Given the description of an element on the screen output the (x, y) to click on. 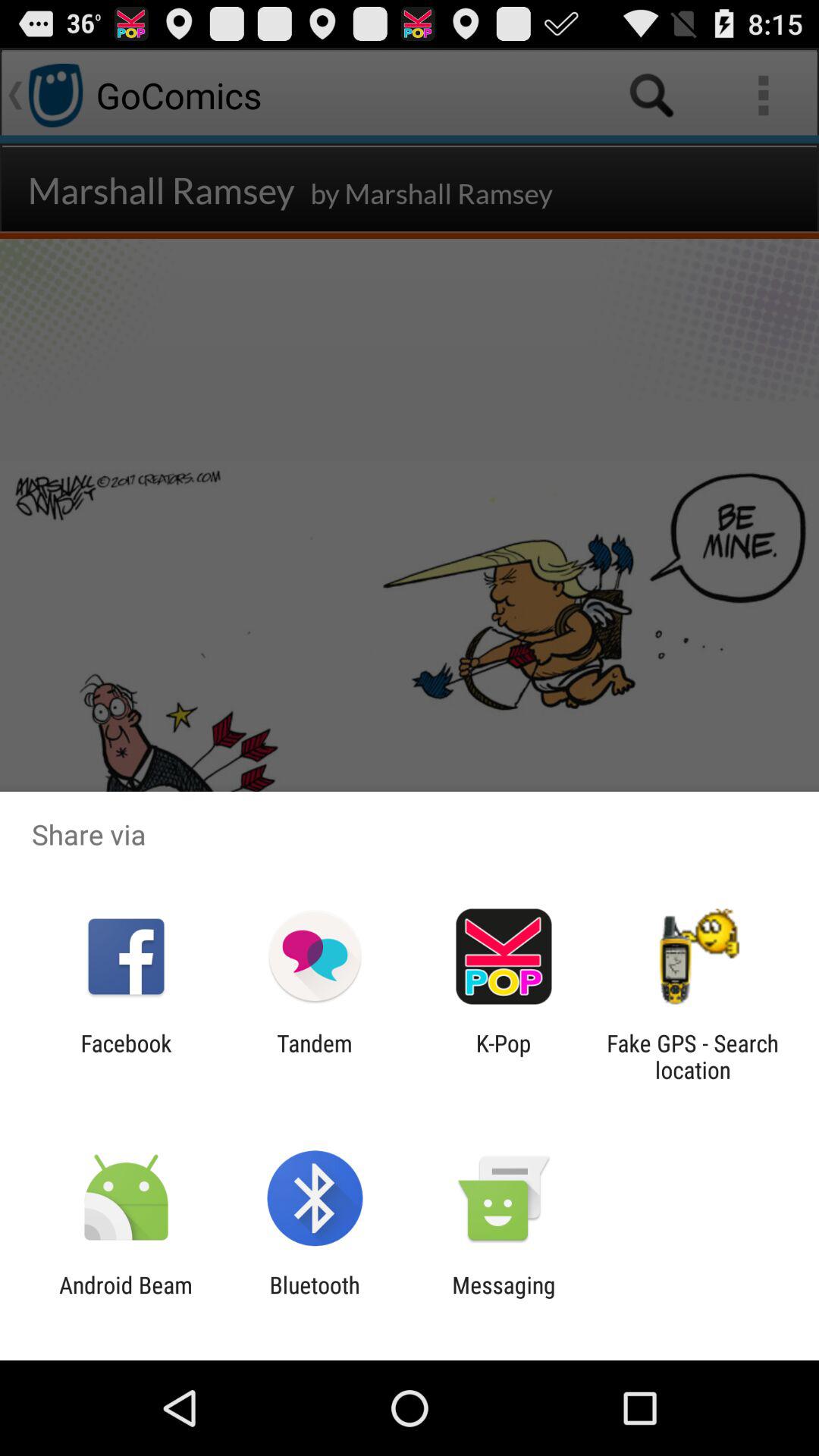
scroll to the k-pop icon (503, 1056)
